Given the description of an element on the screen output the (x, y) to click on. 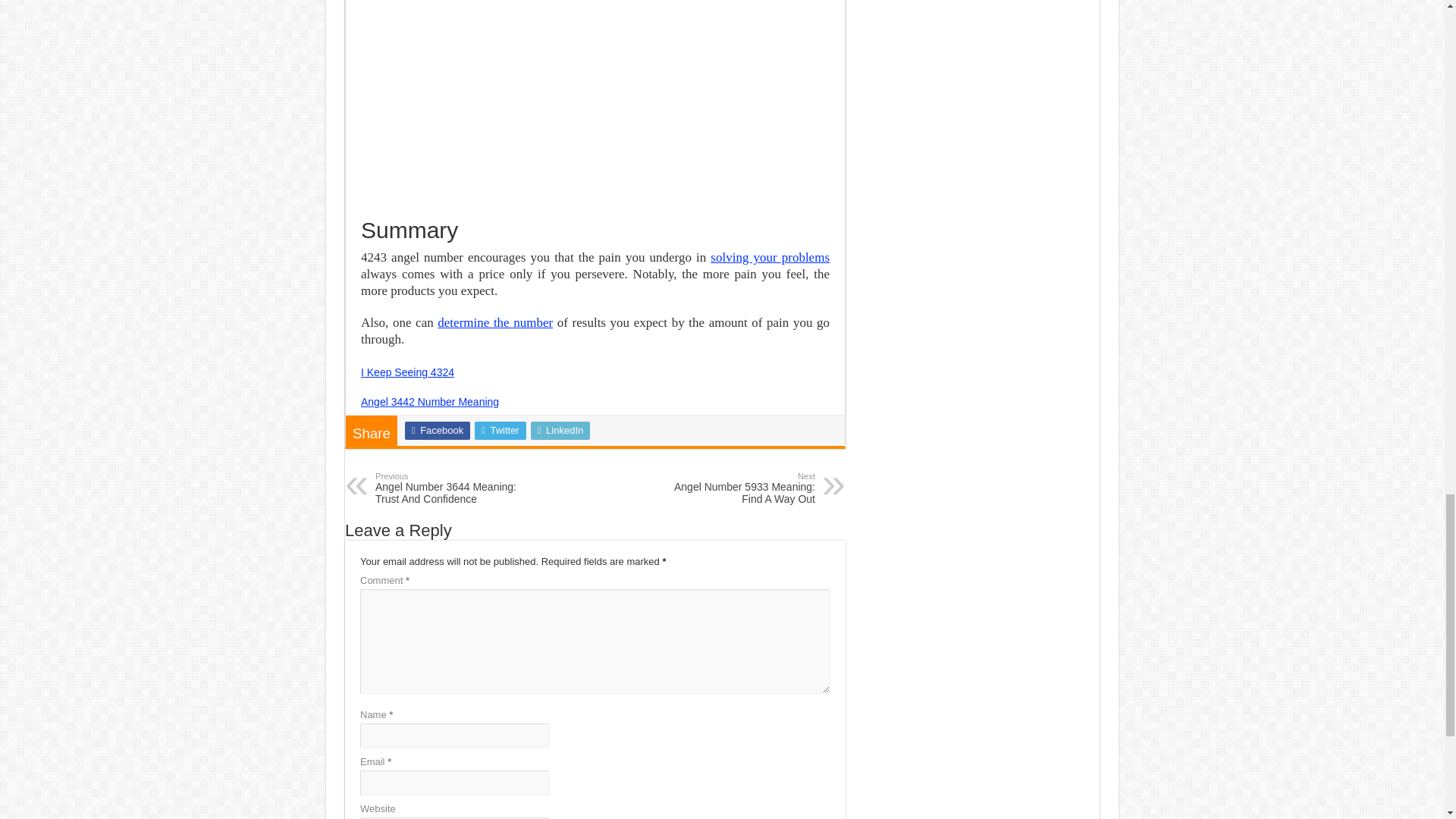
solving your problems (769, 257)
Angel 3442 Number Meaning (430, 401)
I Keep Seeing 4324 (407, 372)
determine the number (495, 322)
I Keep Seeing 4324 (407, 372)
